Given the description of an element on the screen output the (x, y) to click on. 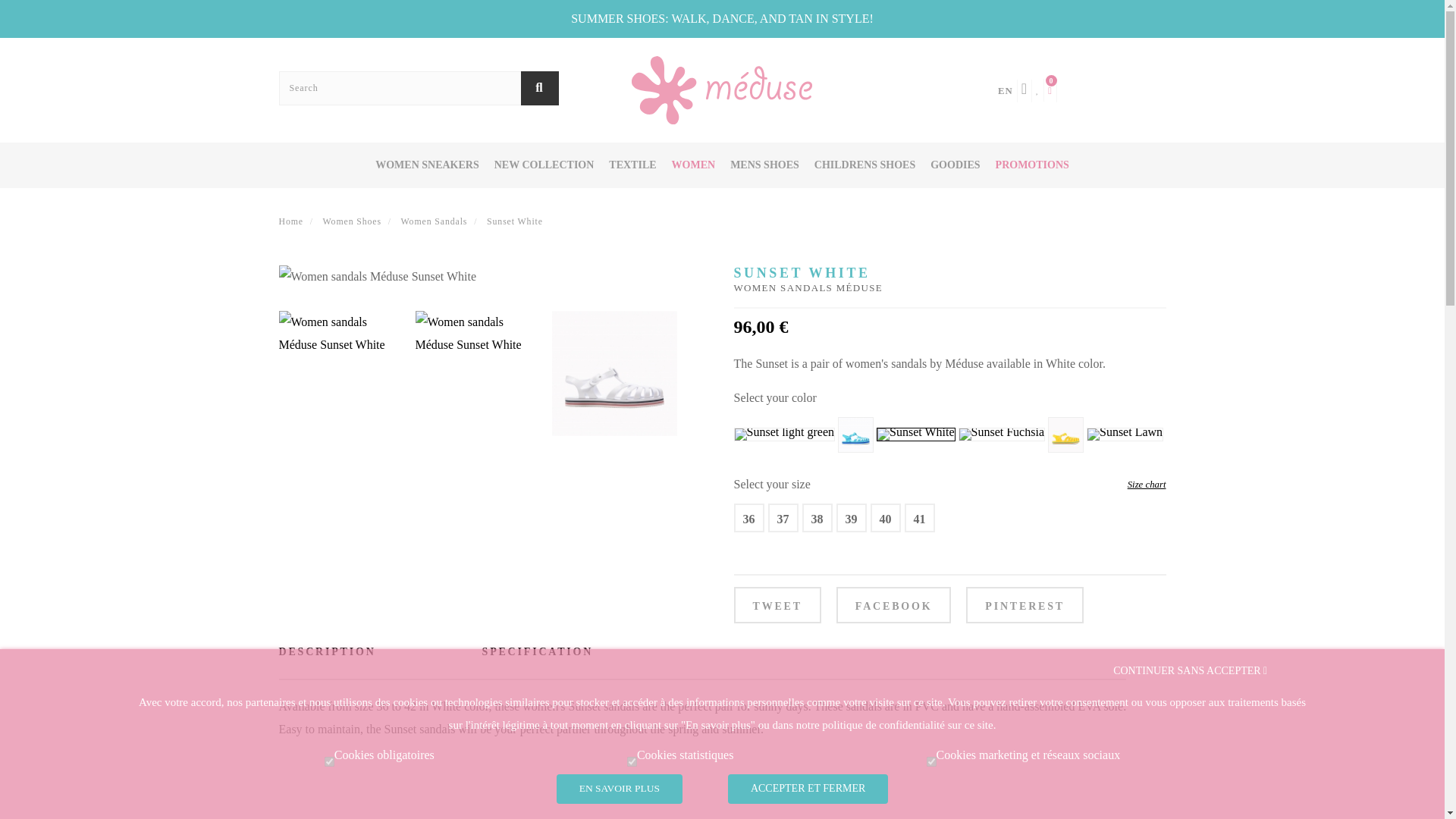
on (632, 761)
New Collection (544, 165)
on (329, 761)
on (931, 761)
Women (693, 165)
Textile (632, 165)
Women sneakers (427, 165)
Summer shoes: walk, dance, and tan in style! (721, 18)
